Given the description of an element on the screen output the (x, y) to click on. 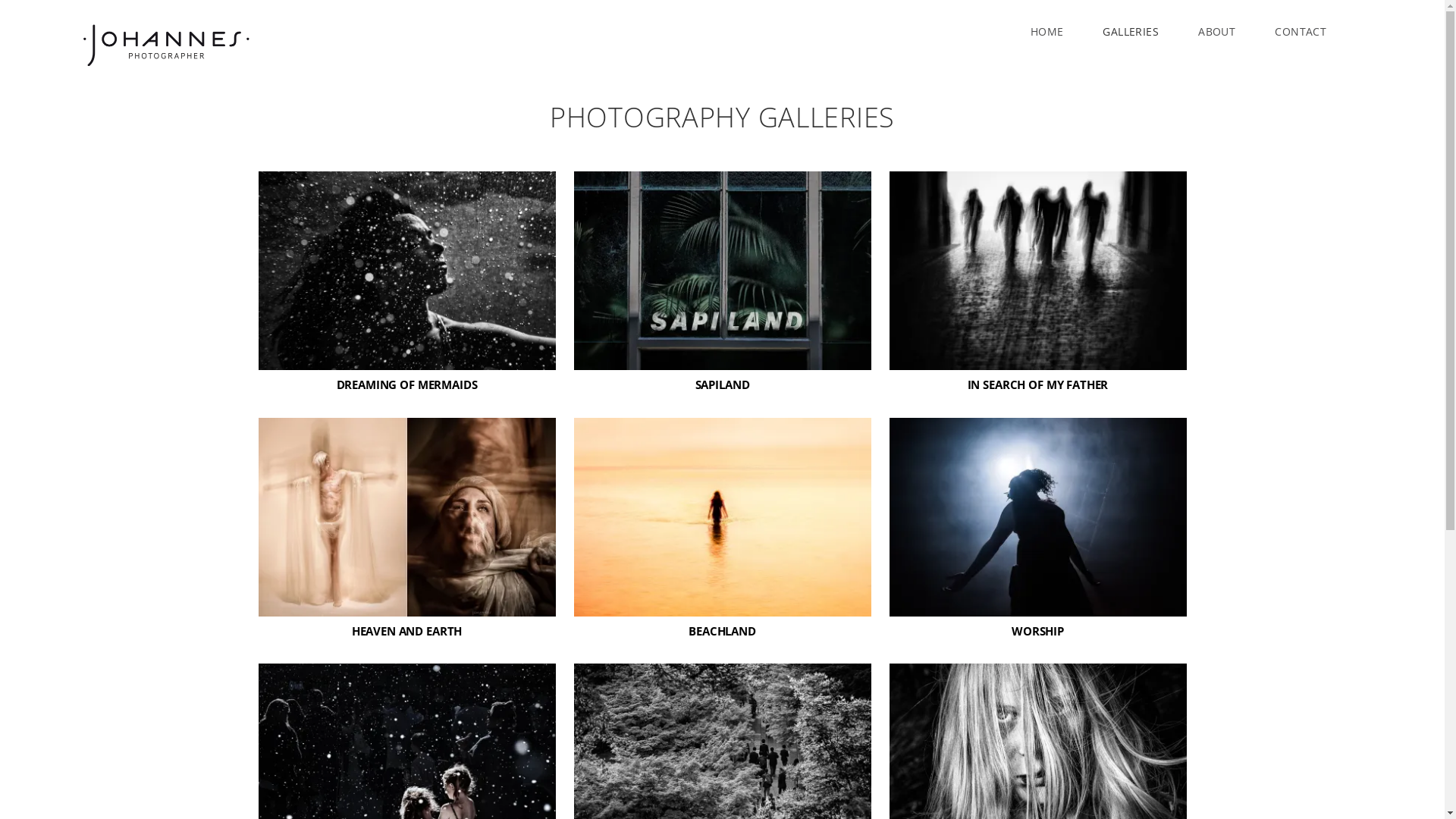
ABOUT Element type: text (1216, 31)
HEAVEN AND EARTH Element type: text (406, 630)
IN SEARCH OF MY FATHER Element type: text (1037, 384)
BEACHLAND Element type: text (722, 630)
GALLERIES Element type: text (1130, 31)
SAPILAND Element type: text (722, 384)
WORSHIP Element type: text (1037, 630)
DREAMING OF MERMAIDS Element type: text (406, 384)
CONTACT Element type: text (1300, 31)
HOME Element type: text (1046, 31)
